Given the description of an element on the screen output the (x, y) to click on. 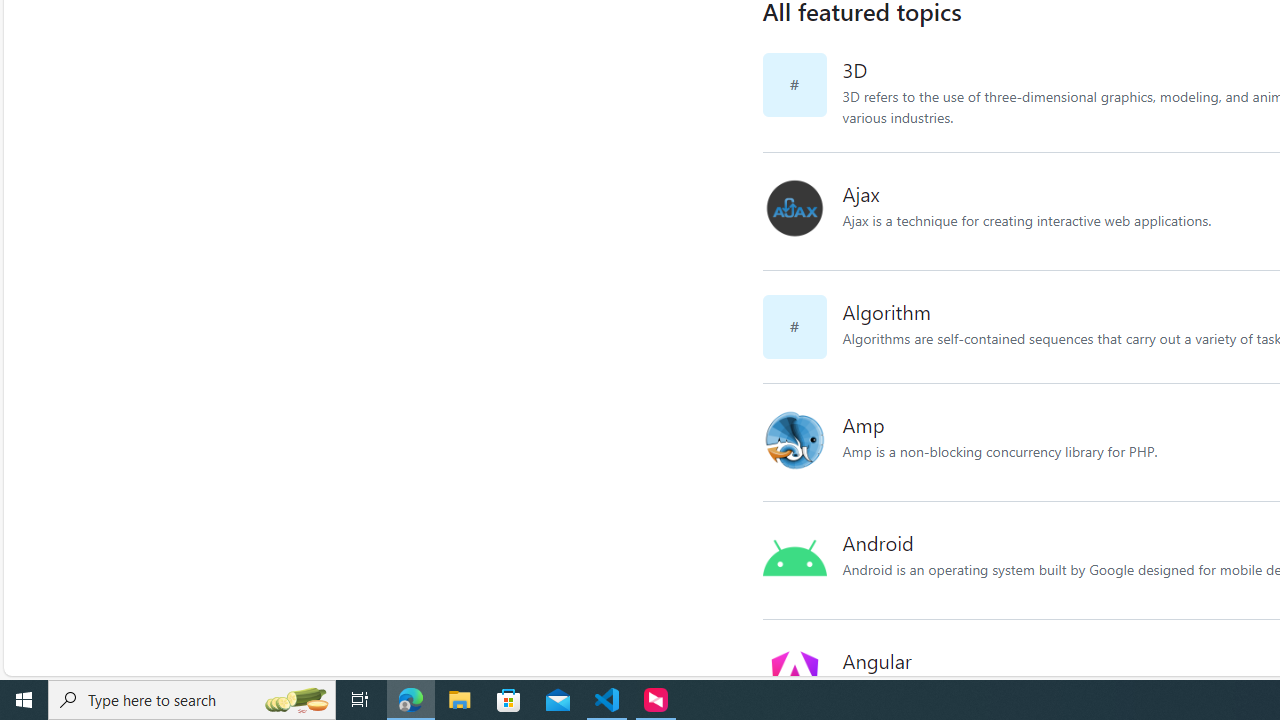
amphp (793, 440)
android (793, 557)
ajax (802, 211)
# (802, 327)
ajax (793, 209)
angular (793, 675)
android (802, 560)
amphp (802, 442)
angular (802, 677)
